Given the description of an element on the screen output the (x, y) to click on. 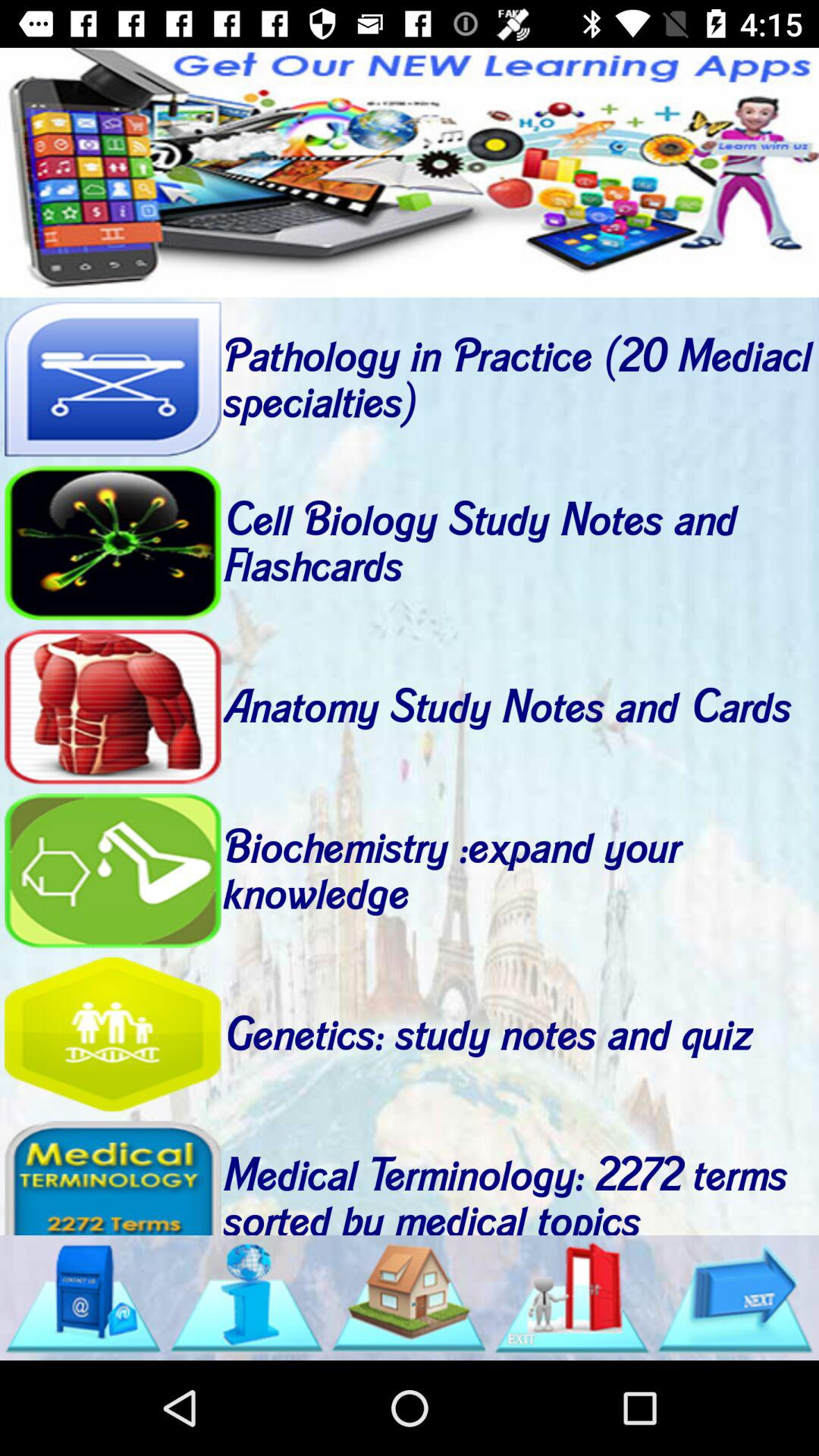
get our new learning apps (409, 172)
